Given the description of an element on the screen output the (x, y) to click on. 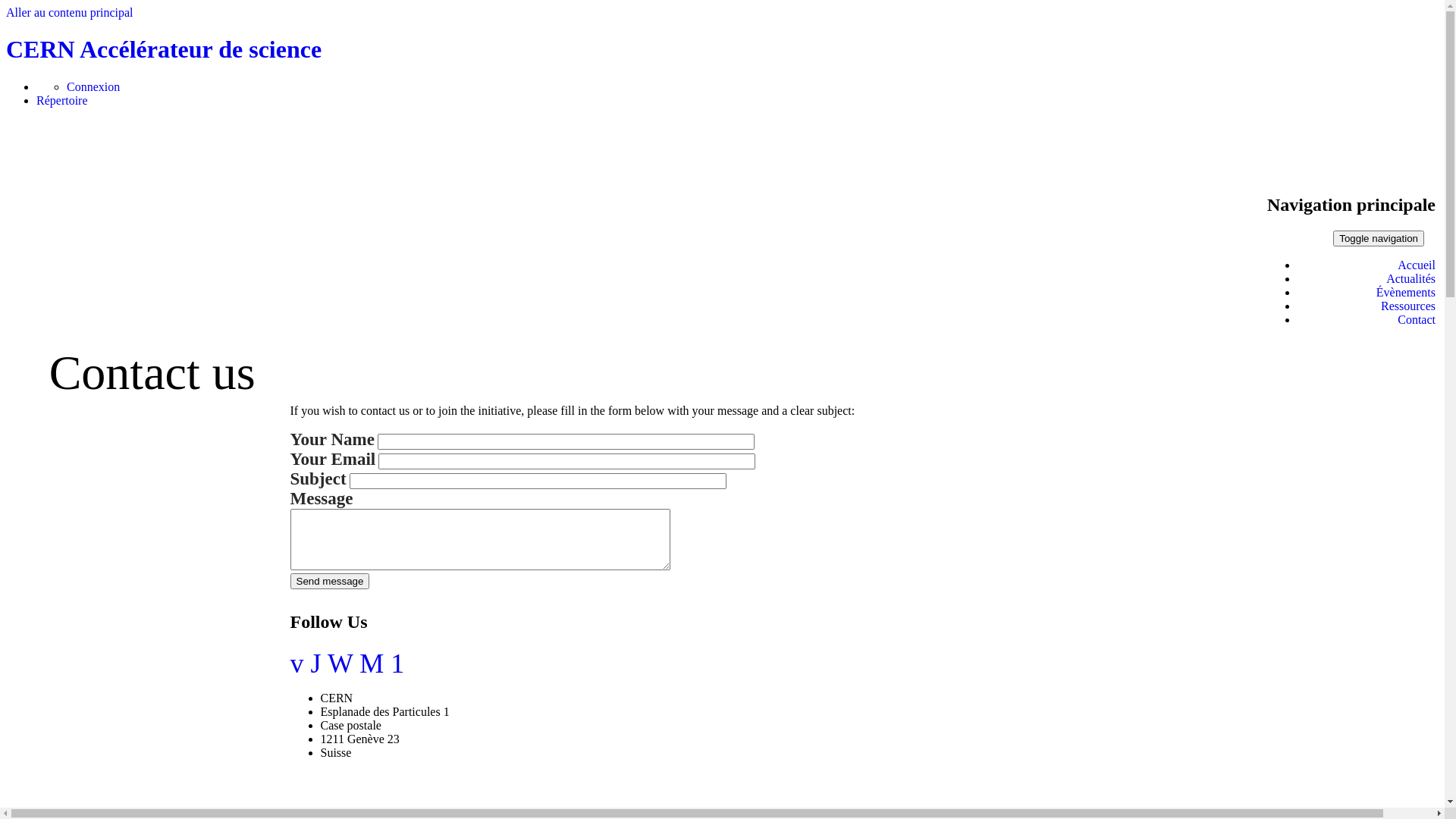
J Element type: text (315, 663)
Send message Element type: text (329, 581)
Aller au contenu principal Element type: text (69, 12)
Ressources Element type: text (1407, 305)
Contact Element type: text (1416, 319)
W Element type: text (339, 663)
Toggle navigation Element type: text (1378, 238)
1 Element type: text (397, 663)
M Element type: text (371, 663)
v Element type: text (296, 663)
Accueil Element type: hover (34, 172)
Accueil Element type: text (1416, 264)
Connexion Element type: text (92, 86)
